Given the description of an element on the screen output the (x, y) to click on. 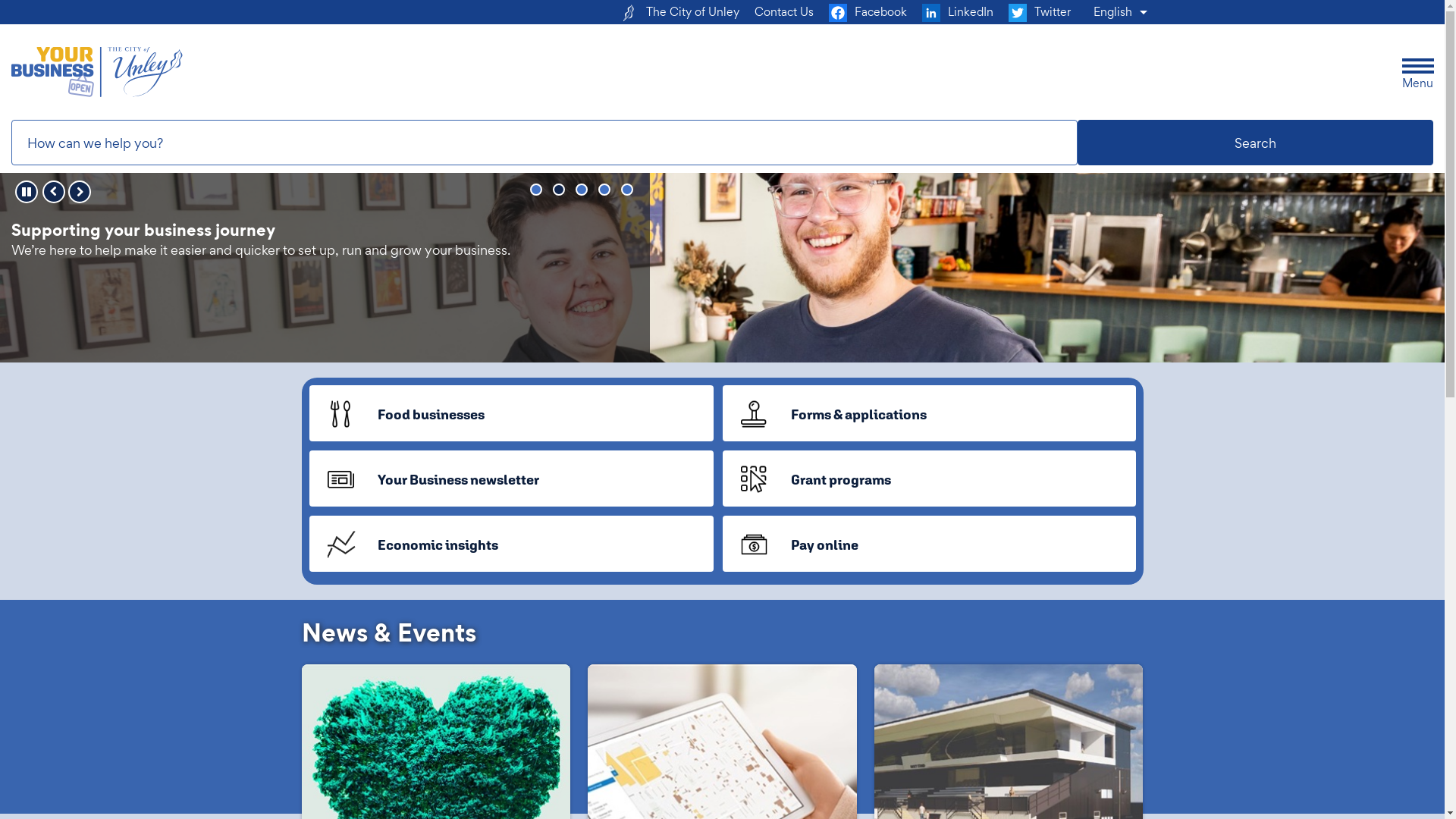
Economic insights Element type: text (511, 543)
Search Element type: text (1255, 142)
Contact Us Element type: text (782, 11)
Assistance & approvals Element type: text (581, 189)
Previous Element type: text (53, 191)
Facebook Element type: text (867, 11)
Grant programs Element type: text (928, 478)
Smart Unley Element type: text (627, 189)
Your current preferred language is
English Element type: text (1117, 11)
Next Element type: text (79, 191)
The City of Unley Element type: text (679, 11)
Your Business newsletter Element type: text (511, 478)
Menu Element type: text (1417, 68)
Pay online Element type: text (928, 543)
LinkedIn Element type: text (957, 11)
Twitter Element type: text (1039, 11)
Food businesses Element type: text (511, 413)
Supporting your business journey Element type: text (558, 189)
Forms & applications Element type: text (928, 413)
Pause Element type: text (26, 191)
Age Friendly Business Element type: text (604, 189)
Home - City of Unley - Logo Element type: text (96, 72)
